Given the description of an element on the screen output the (x, y) to click on. 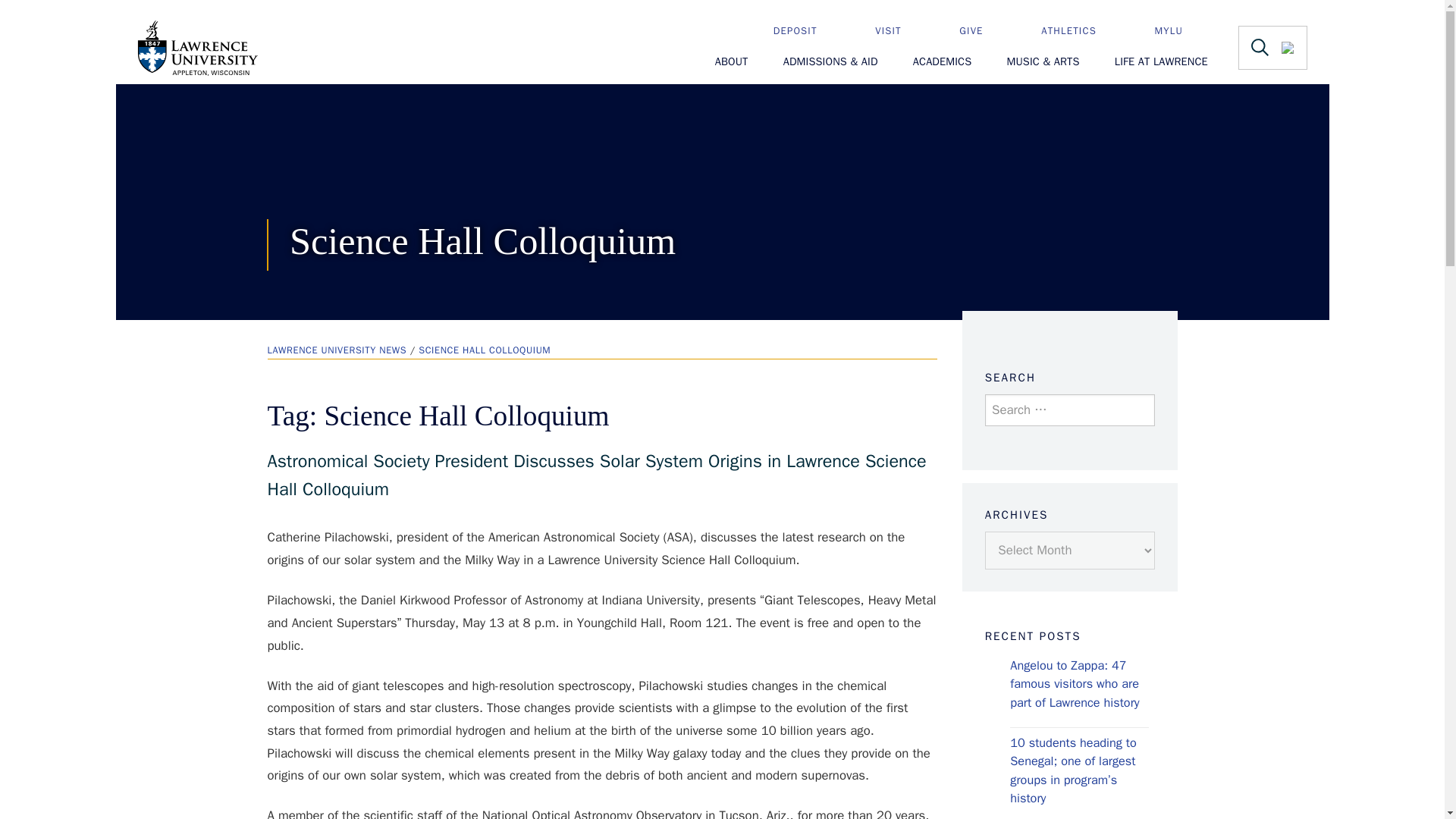
ABOUT (731, 61)
ATHLETICS (1081, 30)
VISIT (901, 30)
ACADEMICS (942, 61)
GIVE (984, 30)
DEPOSIT (808, 30)
LIFE AT LAWRENCE (1161, 61)
MYLU (1181, 30)
Search (1019, 461)
